Given the description of an element on the screen output the (x, y) to click on. 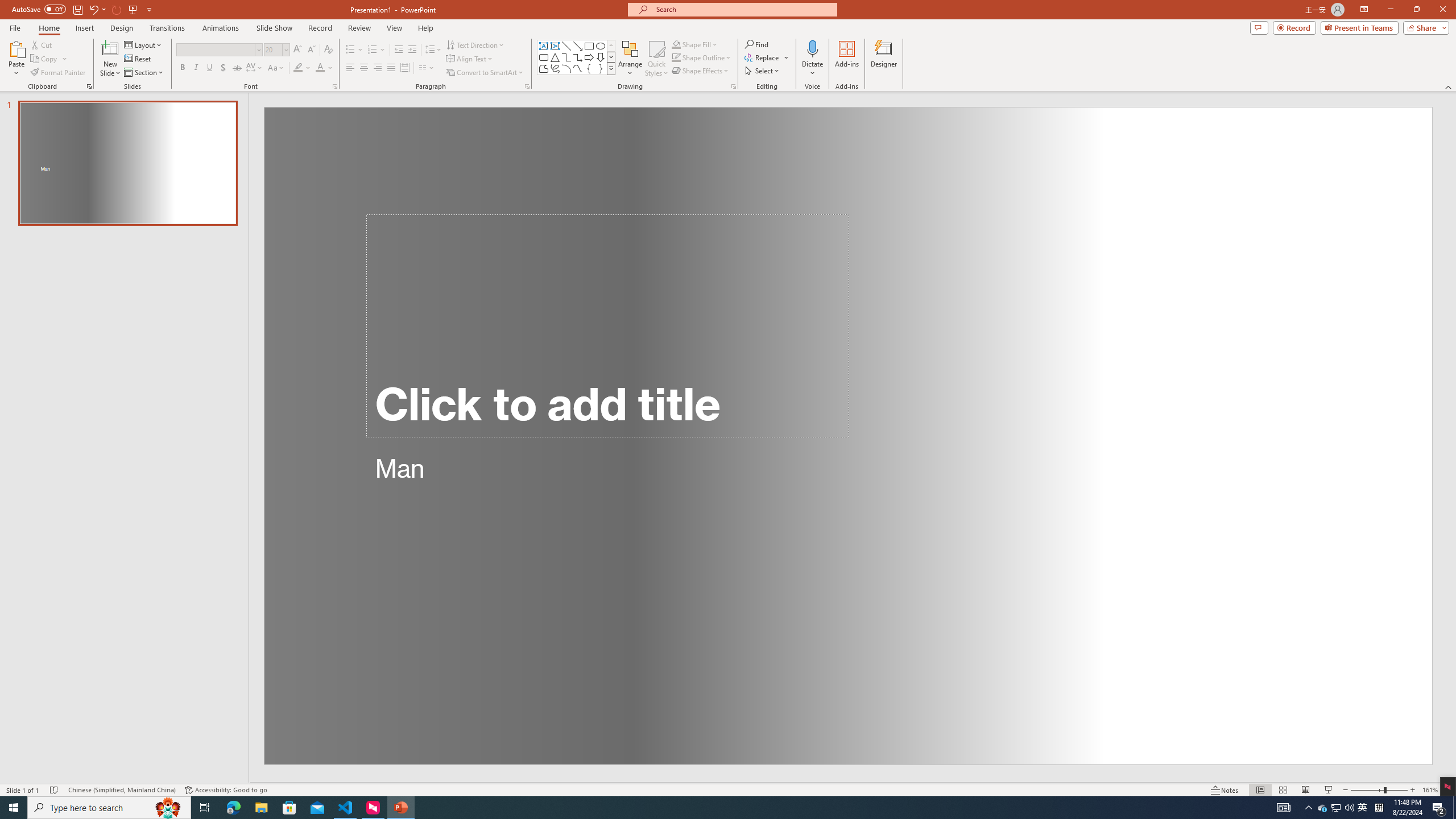
Zoom to Fit  (1449, 790)
Decrease Indent (398, 49)
Redo (117, 9)
Paragraph... (526, 85)
Freeform: Scribble (554, 68)
Arrow: Right (589, 57)
More Options (812, 68)
Dictate (812, 58)
Convert to SmartArt (485, 72)
Record (320, 28)
Connector: Elbow (566, 57)
Zoom (1379, 790)
Numbering (372, 49)
Shape Outline Blue, Accent 1 (675, 56)
